Given the description of an element on the screen output the (x, y) to click on. 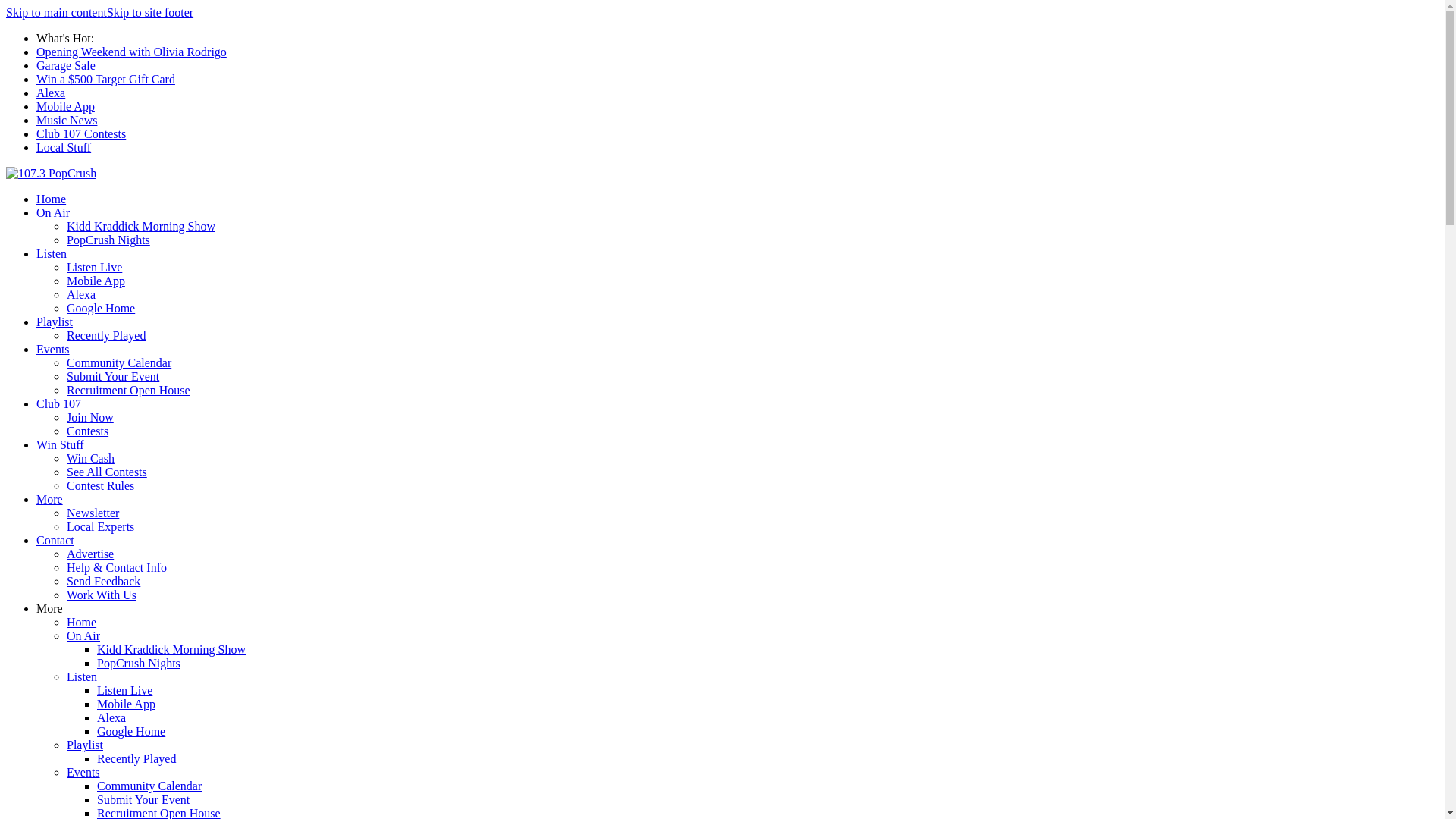
See All Contests Element type: text (106, 471)
Skip to site footer Element type: text (149, 12)
Events Element type: text (83, 771)
Send Feedback Element type: text (103, 580)
Community Calendar Element type: text (149, 785)
Listen Element type: text (51, 253)
Alexa Element type: text (80, 294)
Kidd Kraddick Morning Show Element type: text (171, 649)
Newsletter Element type: text (92, 512)
Advertise Element type: text (89, 553)
Local Stuff Element type: text (63, 147)
Recently Played Element type: text (105, 335)
Local Experts Element type: text (100, 526)
Home Element type: text (81, 621)
Home Element type: text (50, 198)
Google Home Element type: text (131, 730)
Join Now Element type: text (89, 417)
PopCrush Nights Element type: text (108, 239)
Events Element type: text (52, 348)
Alexa Element type: text (50, 92)
Garage Sale Element type: text (65, 65)
Skip to main content Element type: text (56, 12)
Win Cash Element type: text (90, 457)
Contest Rules Element type: text (100, 485)
Google Home Element type: text (100, 307)
Submit Your Event Element type: text (112, 376)
Recruitment Open House Element type: text (128, 389)
Listen Live Element type: text (94, 266)
Mobile App Element type: text (65, 106)
Playlist Element type: text (54, 321)
Kidd Kraddick Morning Show Element type: text (140, 225)
Opening Weekend with Olivia Rodrigo Element type: text (131, 51)
PopCrush Nights Element type: text (138, 662)
Mobile App Element type: text (126, 703)
Win a $500 Target Gift Card Element type: text (105, 78)
Club 107 Contests Element type: text (80, 133)
Help & Contact Info Element type: text (116, 567)
Community Calendar Element type: text (118, 362)
Playlist Element type: text (84, 744)
On Air Element type: text (83, 635)
Contests Element type: text (87, 430)
Alexa Element type: text (111, 717)
Win Stuff Element type: text (60, 444)
Work With Us Element type: text (101, 594)
Contact Element type: text (55, 539)
Music News Element type: text (66, 119)
Listen Live Element type: text (124, 690)
Submit Your Event Element type: text (143, 799)
Mobile App Element type: text (95, 280)
Club 107 Element type: text (58, 403)
On Air Element type: text (52, 212)
More Element type: text (49, 498)
Listen Element type: text (81, 676)
Recently Played Element type: text (136, 758)
